Given the description of an element on the screen output the (x, y) to click on. 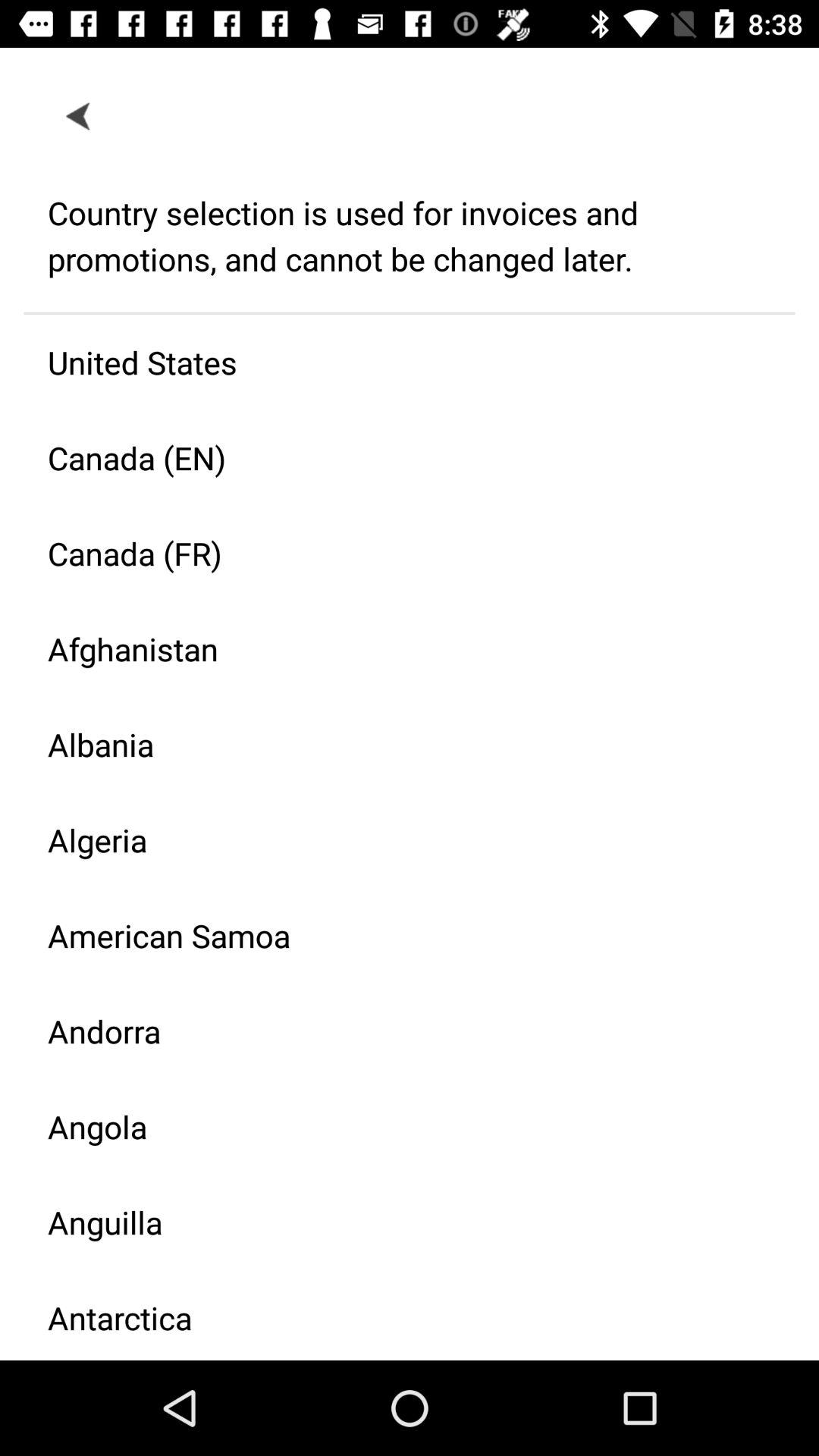
go to back (79, 115)
